Given the description of an element on the screen output the (x, y) to click on. 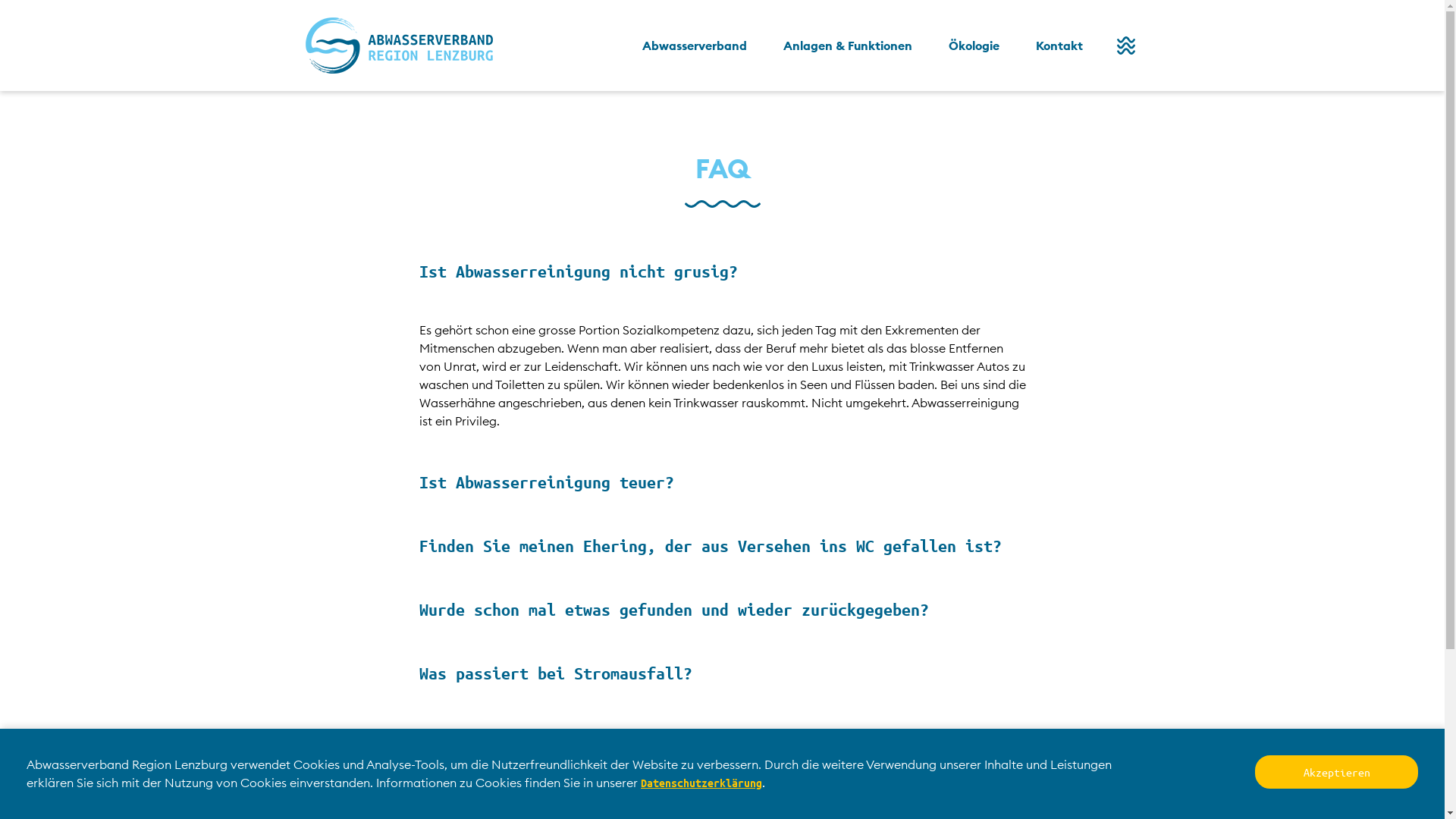
Kontakt Element type: text (1058, 45)
Anlagen & Funktionen Element type: text (846, 45)
Abwasserverband Region Lenzburg Element type: hover (398, 45)
Akzeptieren Element type: text (1336, 771)
Abwasserverband Element type: text (693, 45)
